Given the description of an element on the screen output the (x, y) to click on. 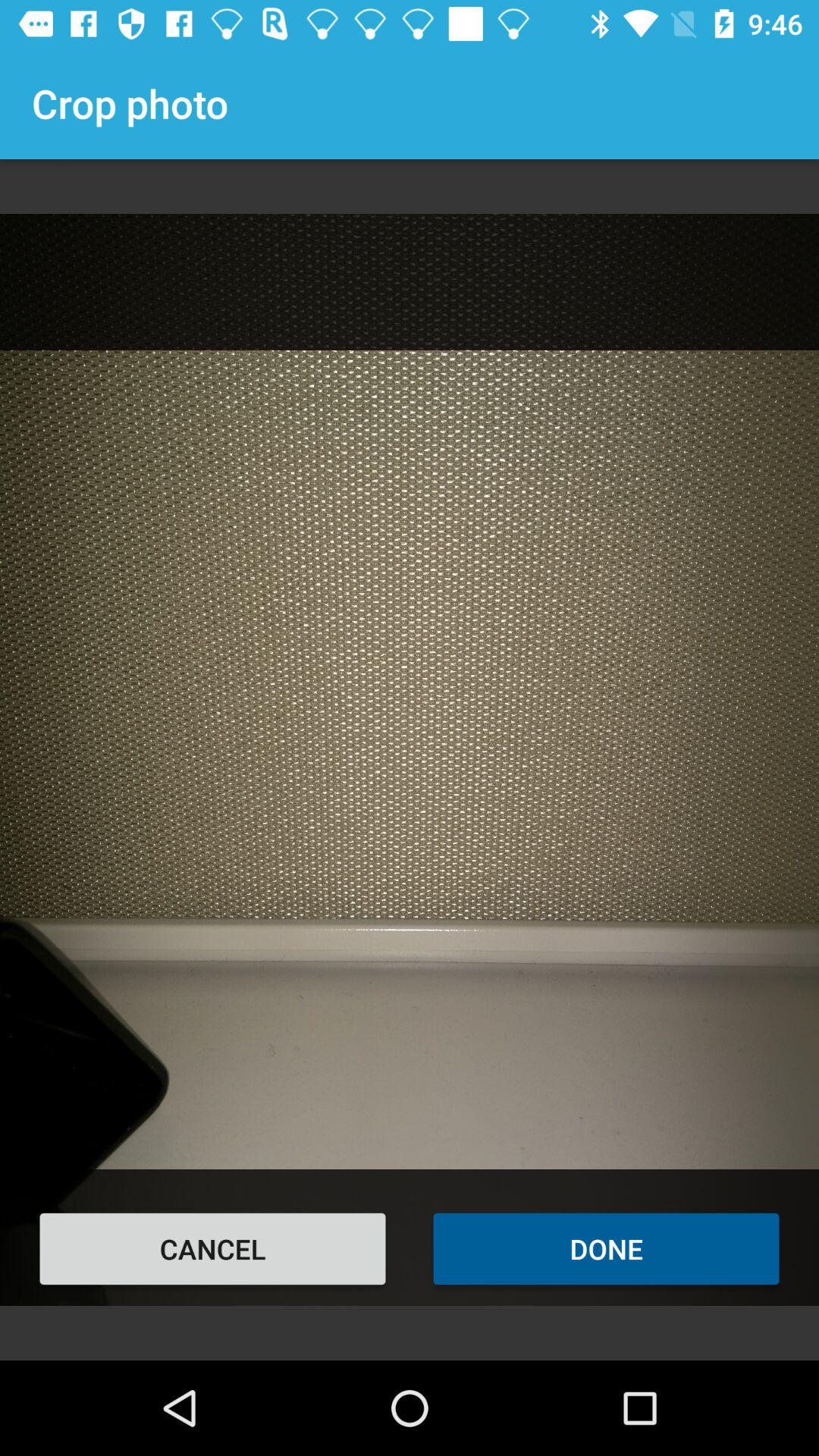
turn off item next to the cancel (606, 1248)
